Given the description of an element on the screen output the (x, y) to click on. 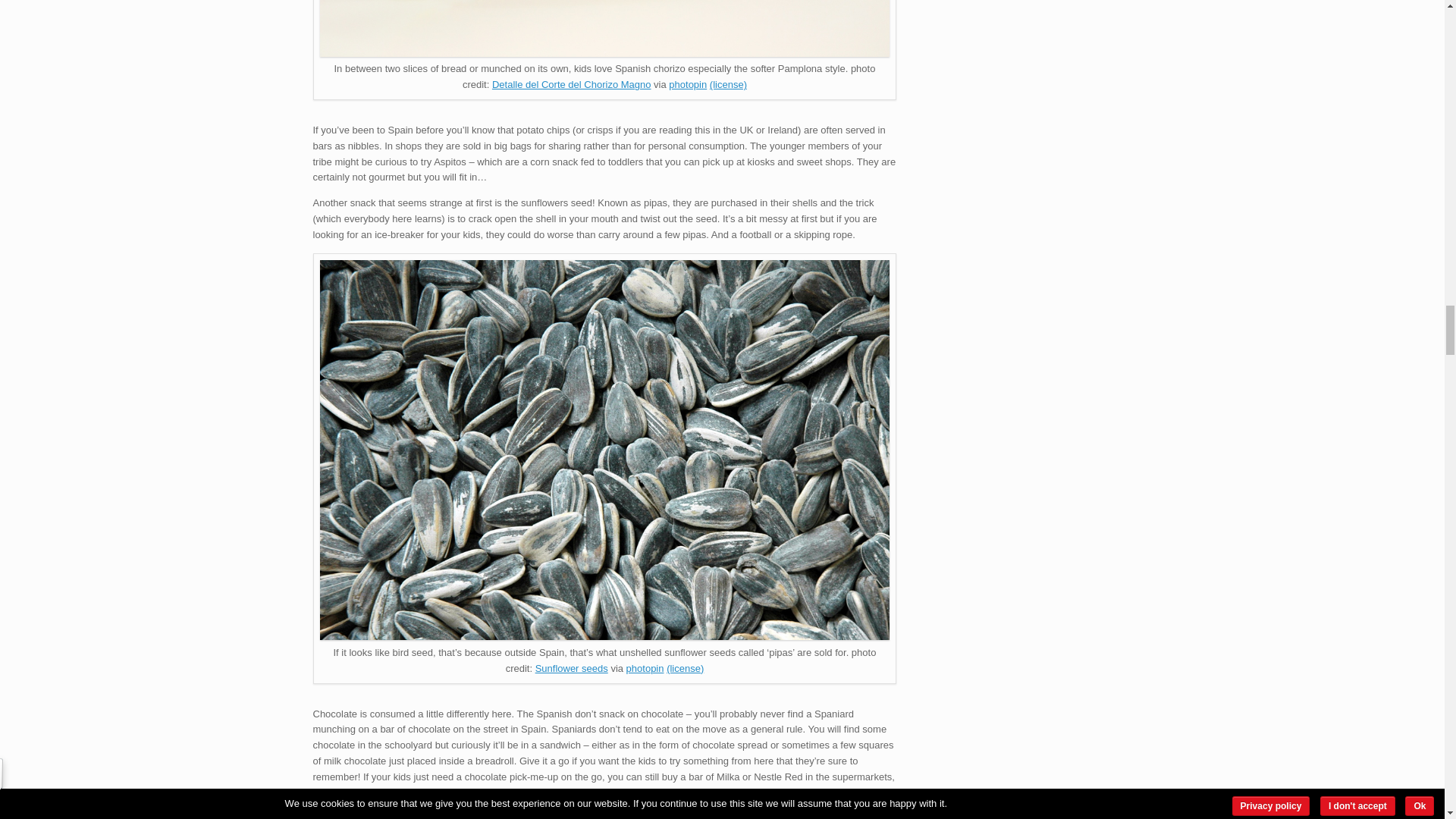
Detalle del Corte del Chorizo Magno (571, 84)
